Given the description of an element on the screen output the (x, y) to click on. 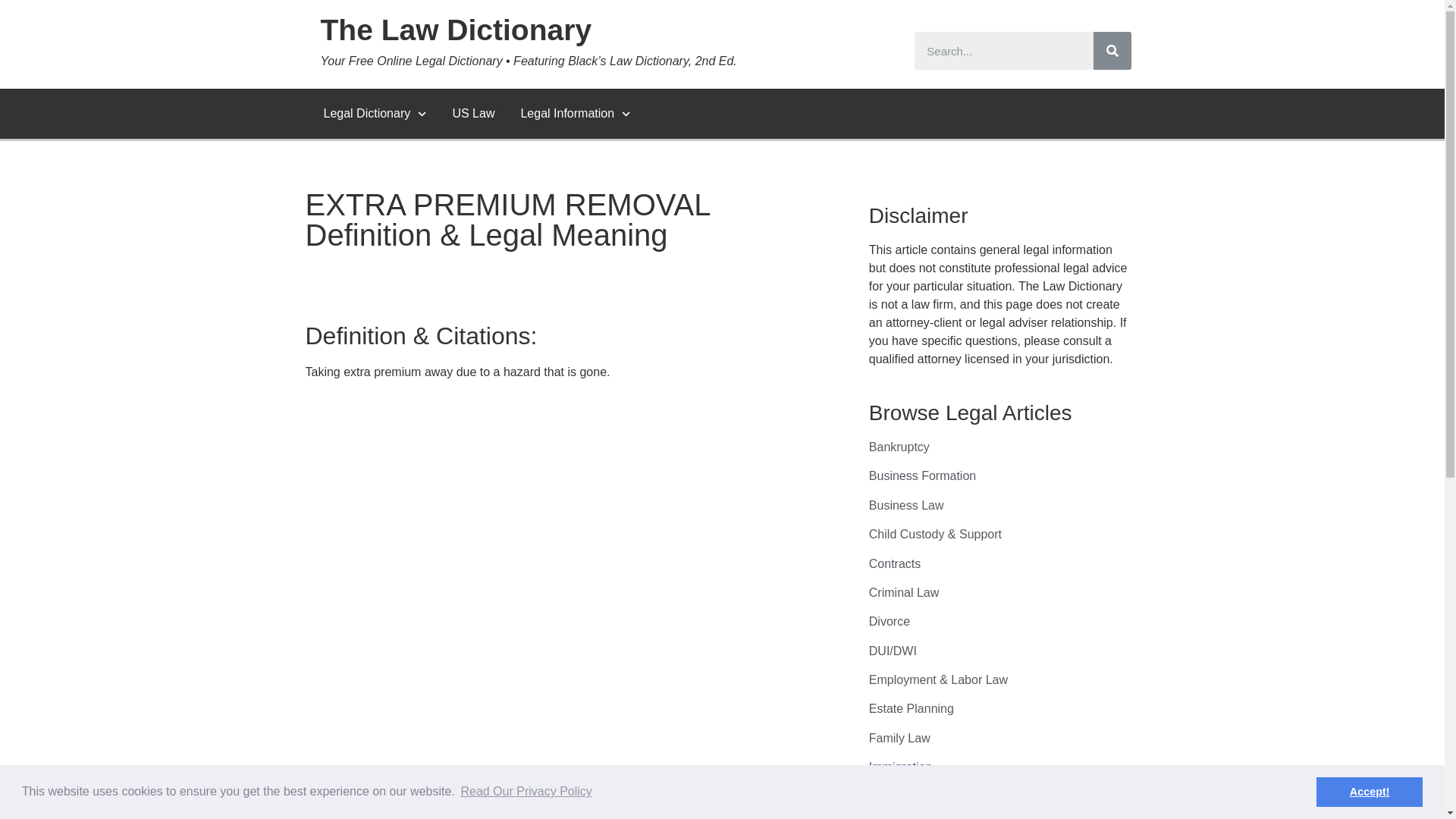
Legal Information (575, 113)
Accept! (1369, 791)
US Law (472, 113)
Legal Dictionary (374, 113)
Read Our Privacy Policy (526, 791)
Search (1112, 50)
The Law Dictionary (455, 29)
Search (1003, 50)
